Given the description of an element on the screen output the (x, y) to click on. 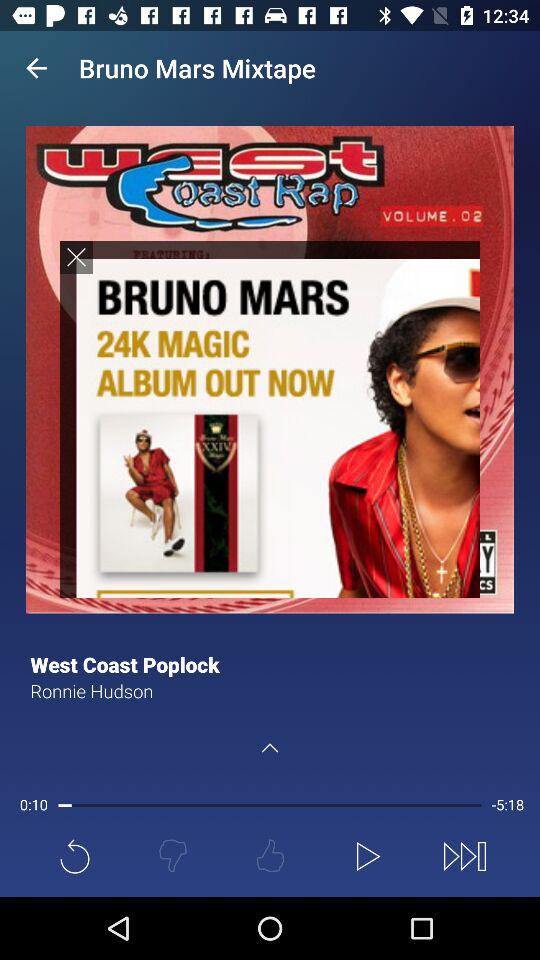
sereen page (270, 418)
